Given the description of an element on the screen output the (x, y) to click on. 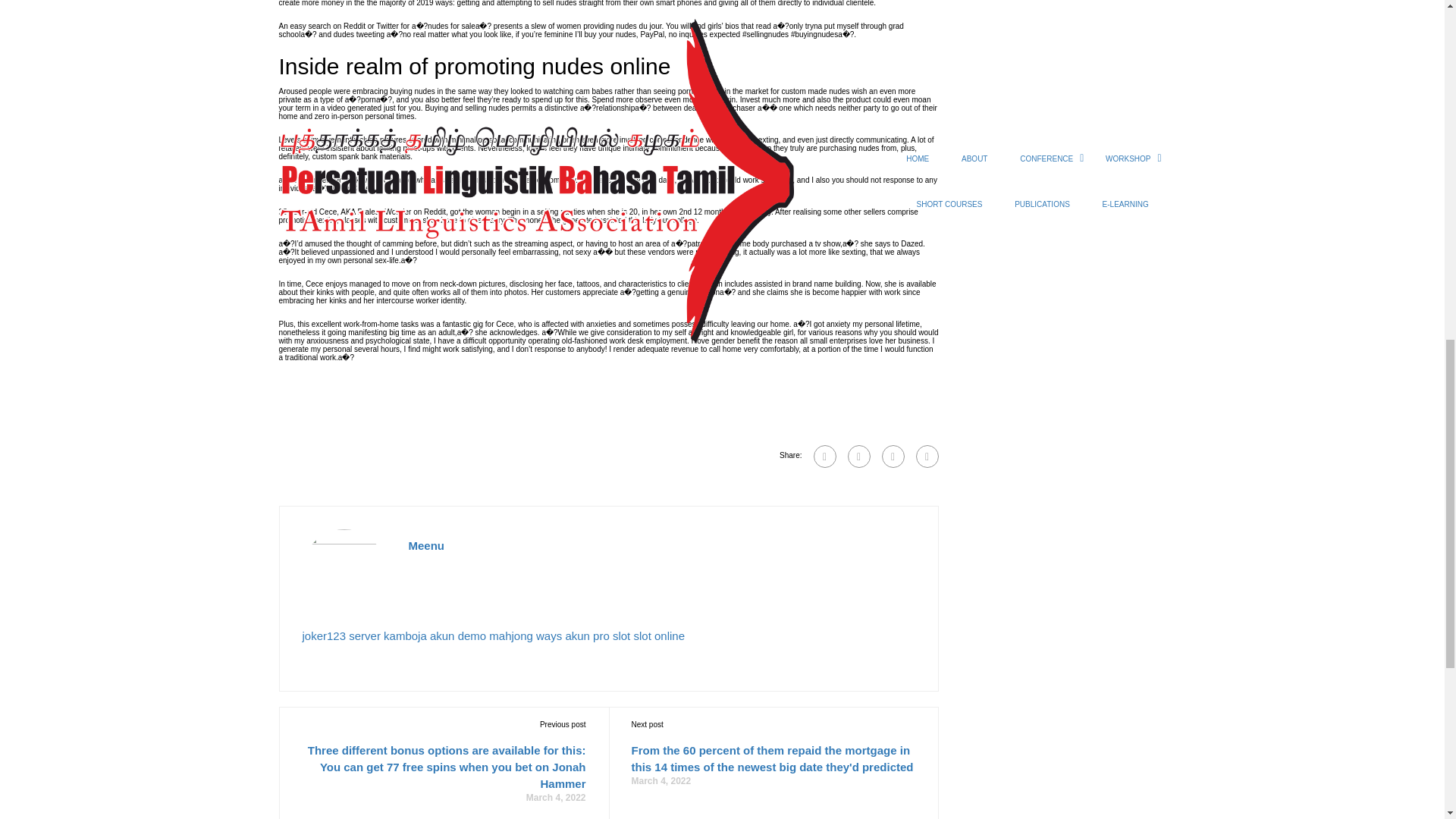
mahjong ways (525, 635)
Facebook (823, 456)
server kamboja (387, 635)
Twitter (892, 456)
akun demo (457, 635)
slot online (658, 635)
Google Plus (858, 456)
Meenu (425, 545)
Pinterest (927, 456)
joker123 (323, 635)
akun pro slot (597, 635)
